Given the description of an element on the screen output the (x, y) to click on. 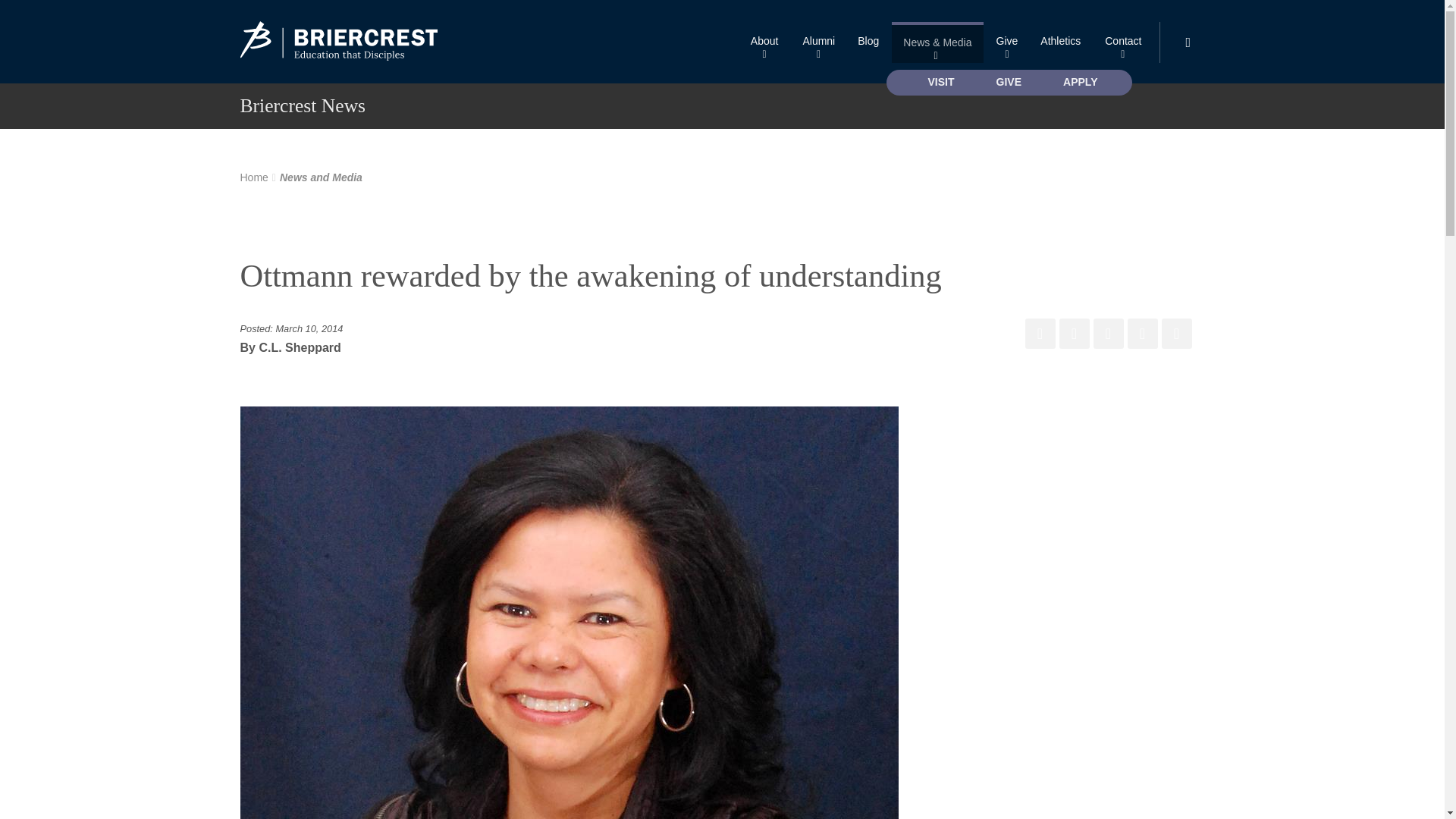
Apply (1079, 81)
Athletics (1060, 42)
Blog (867, 42)
Blog (867, 42)
Give (1007, 42)
Alumni (817, 42)
share this to LinkedIn (1141, 333)
Give (1007, 42)
Give (1008, 81)
About (764, 42)
share this to Pinterest (1108, 333)
Visit (941, 81)
share this to my Facebook page (1040, 333)
Alumni (817, 42)
